Given the description of an element on the screen output the (x, y) to click on. 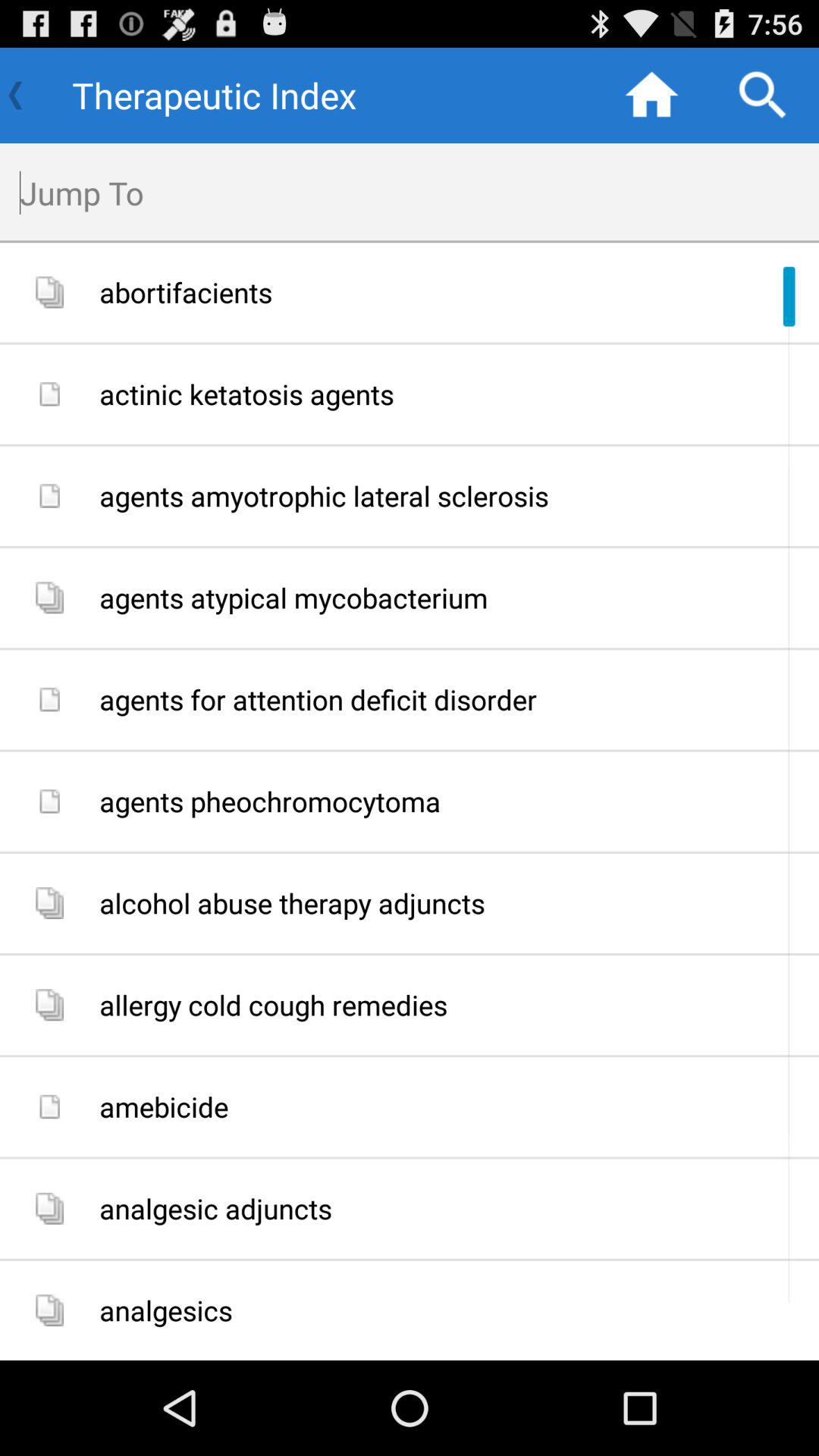
choose analgesics item (453, 1310)
